Given the description of an element on the screen output the (x, y) to click on. 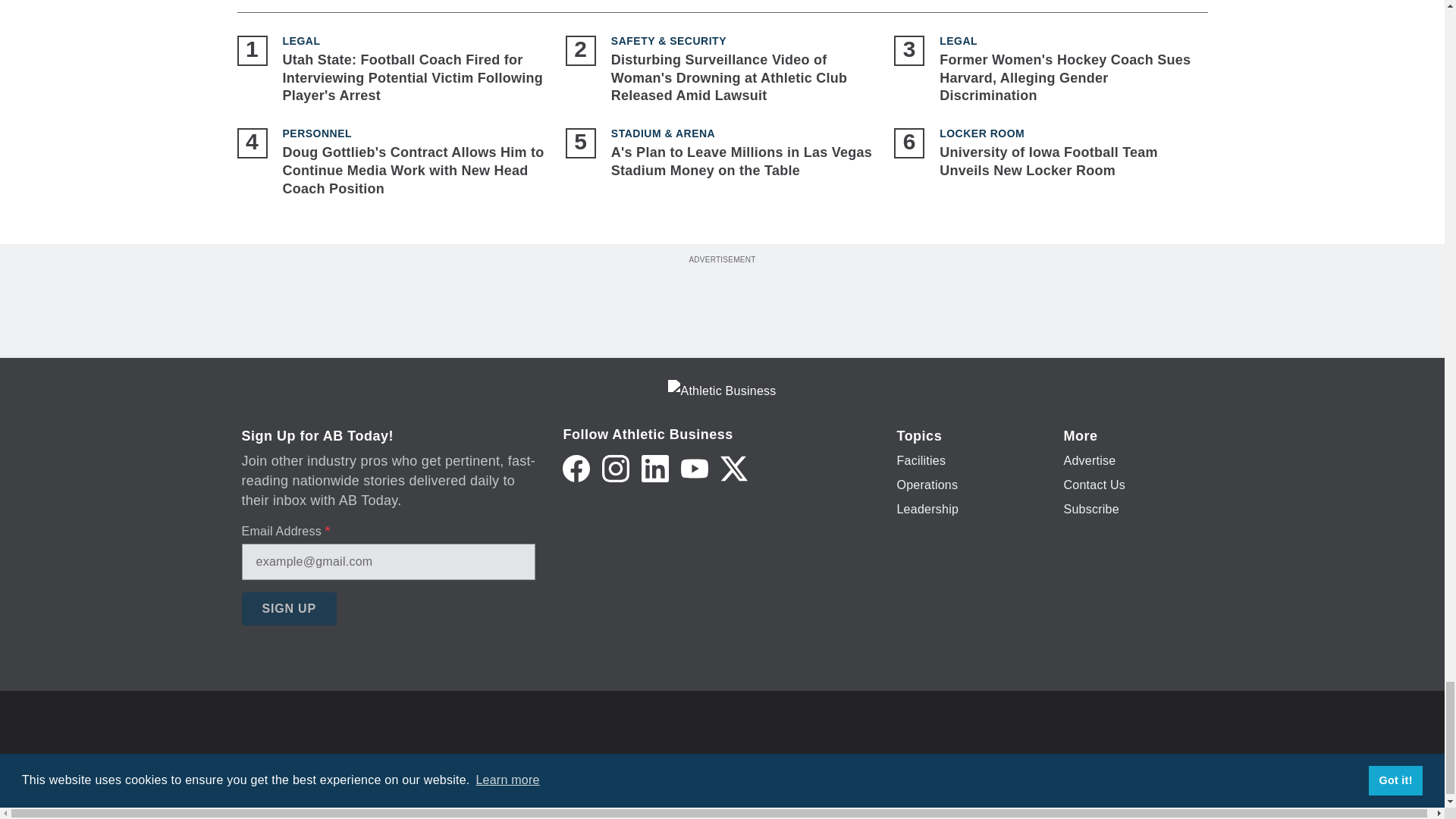
Instagram icon (615, 468)
Facebook icon (575, 468)
LinkedIn icon (655, 468)
